Given the description of an element on the screen output the (x, y) to click on. 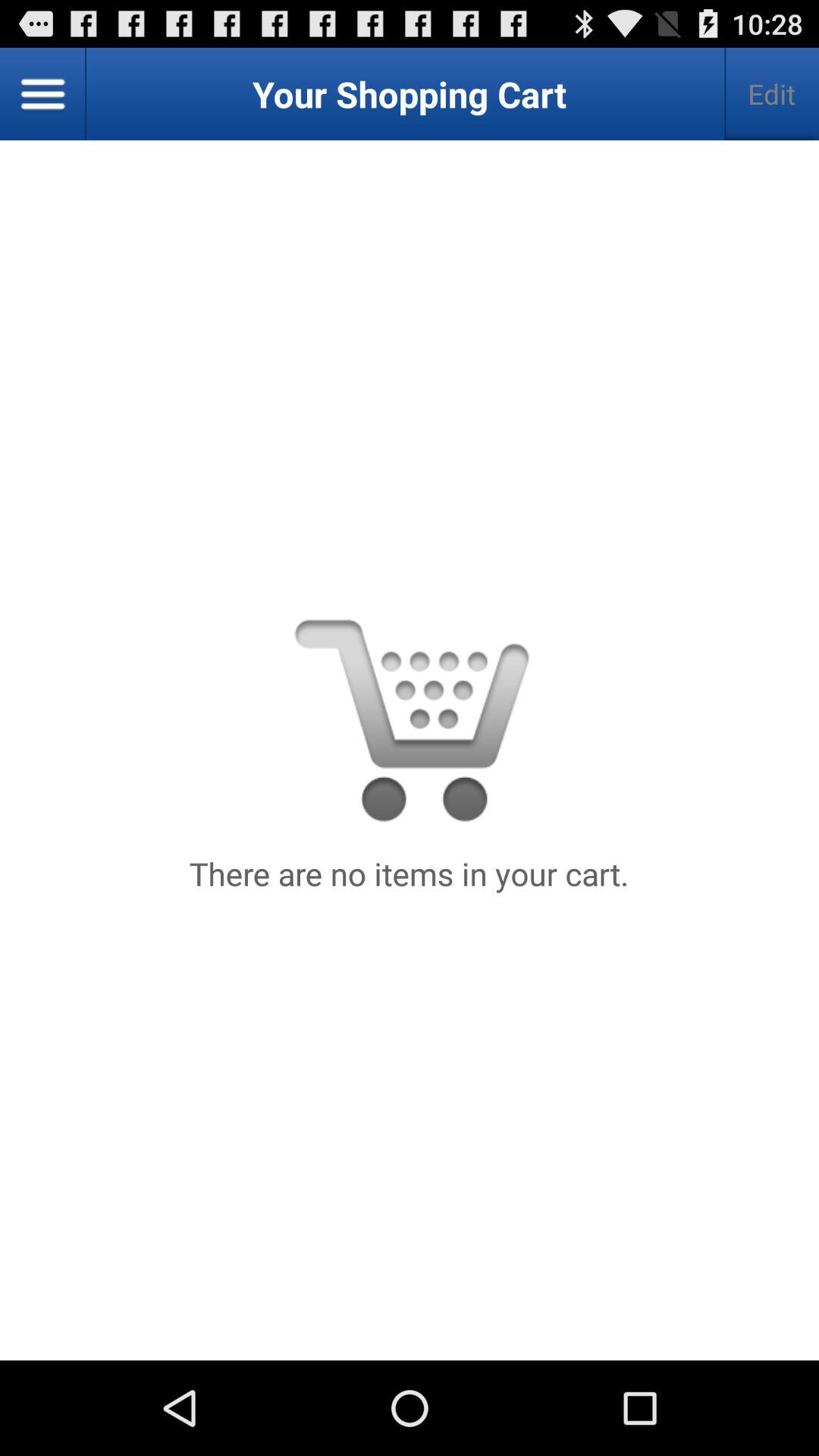
launch the item to the left of edit (43, 93)
